Given the description of an element on the screen output the (x, y) to click on. 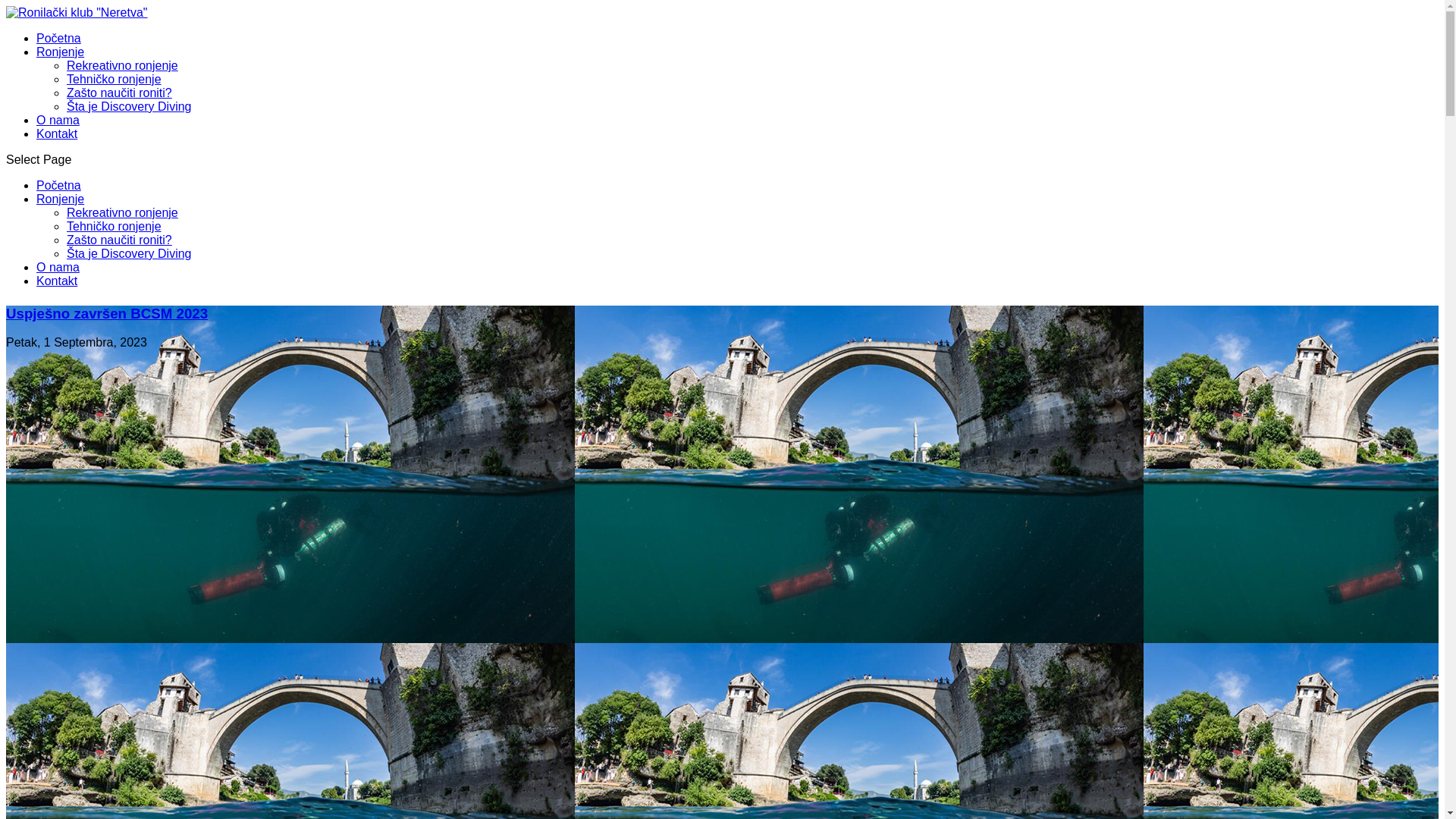
Rekreativno ronjenje Element type: text (122, 65)
O nama Element type: text (57, 119)
Kontakt Element type: text (56, 280)
O nama Element type: text (57, 266)
Ronjenje Element type: text (60, 198)
Rekreativno ronjenje Element type: text (122, 212)
Kontakt Element type: text (56, 133)
Ronjenje Element type: text (60, 51)
